Given the description of an element on the screen output the (x, y) to click on. 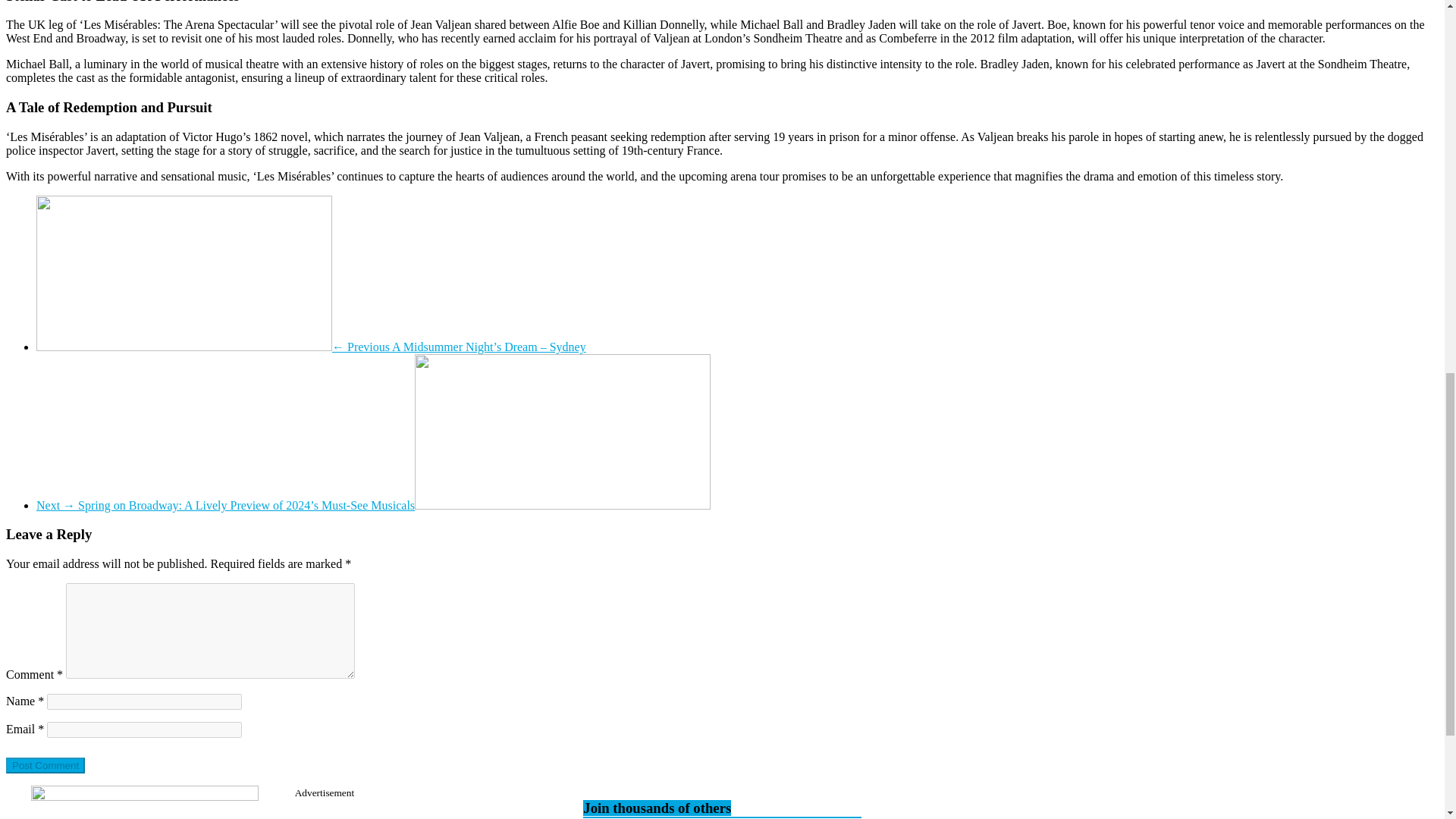
Post Comment (44, 765)
Post Comment (44, 765)
